Given the description of an element on the screen output the (x, y) to click on. 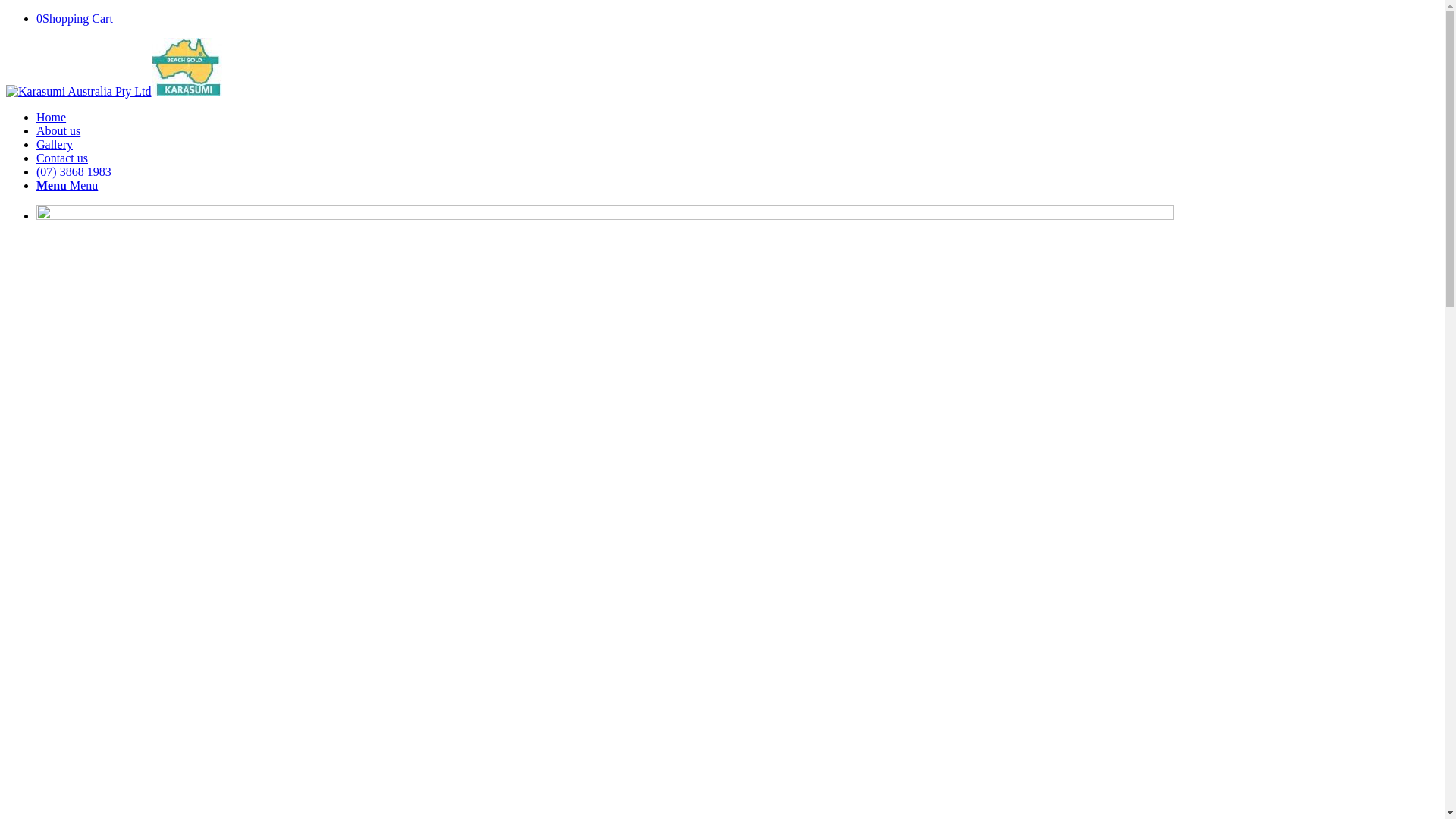
Gallery Element type: text (54, 144)
0Shopping Cart Element type: text (74, 18)
Home Element type: text (50, 116)
karasumi-hero Element type: hover (604, 443)
thumbnail_LOGO Element type: hover (186, 66)
thumbnail_LOGO Element type: hover (78, 91)
Menu Menu Element type: text (66, 184)
(07) 3868 1983 Element type: text (73, 171)
Contact us Element type: text (61, 157)
About us Element type: text (58, 130)
